Given the description of an element on the screen output the (x, y) to click on. 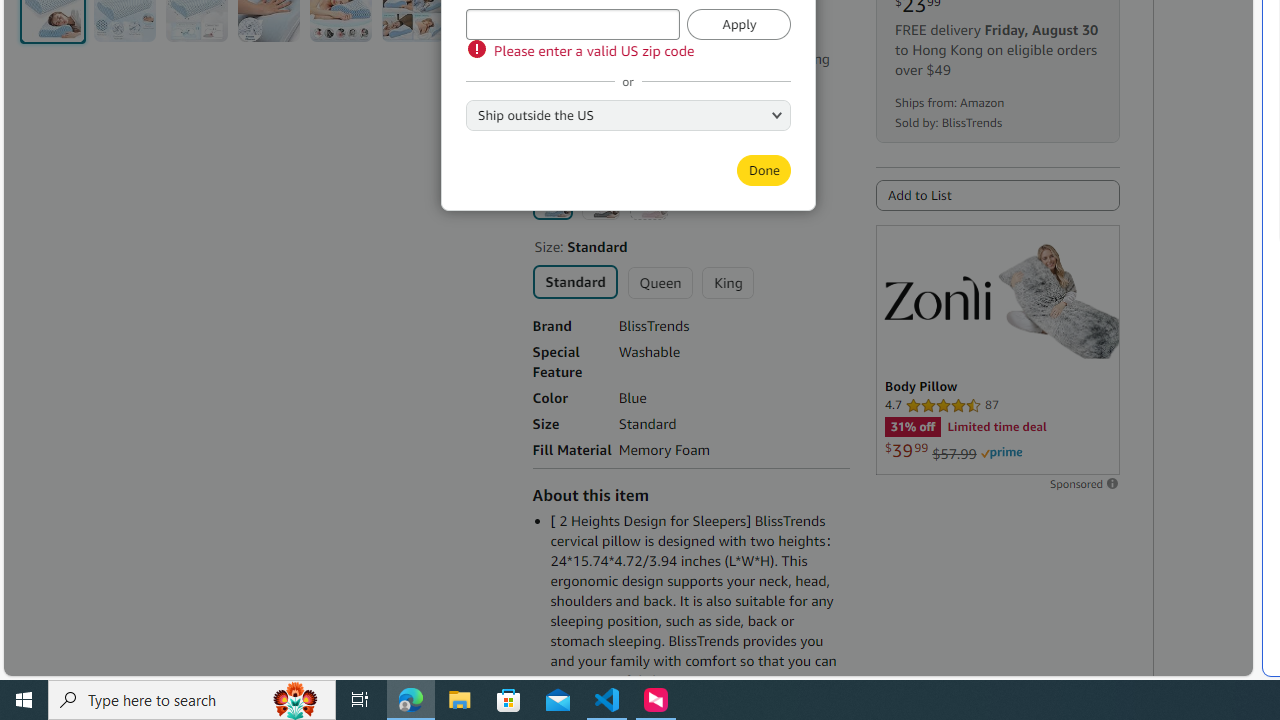
Prime (1001, 453)
Grey (600, 200)
Pink (647, 200)
Add to List (997, 195)
Standard (574, 280)
Apply 20% coupon Shop items | Terms (622, 100)
Sponsored ad (997, 349)
Shop items (577, 125)
